Given the description of an element on the screen output the (x, y) to click on. 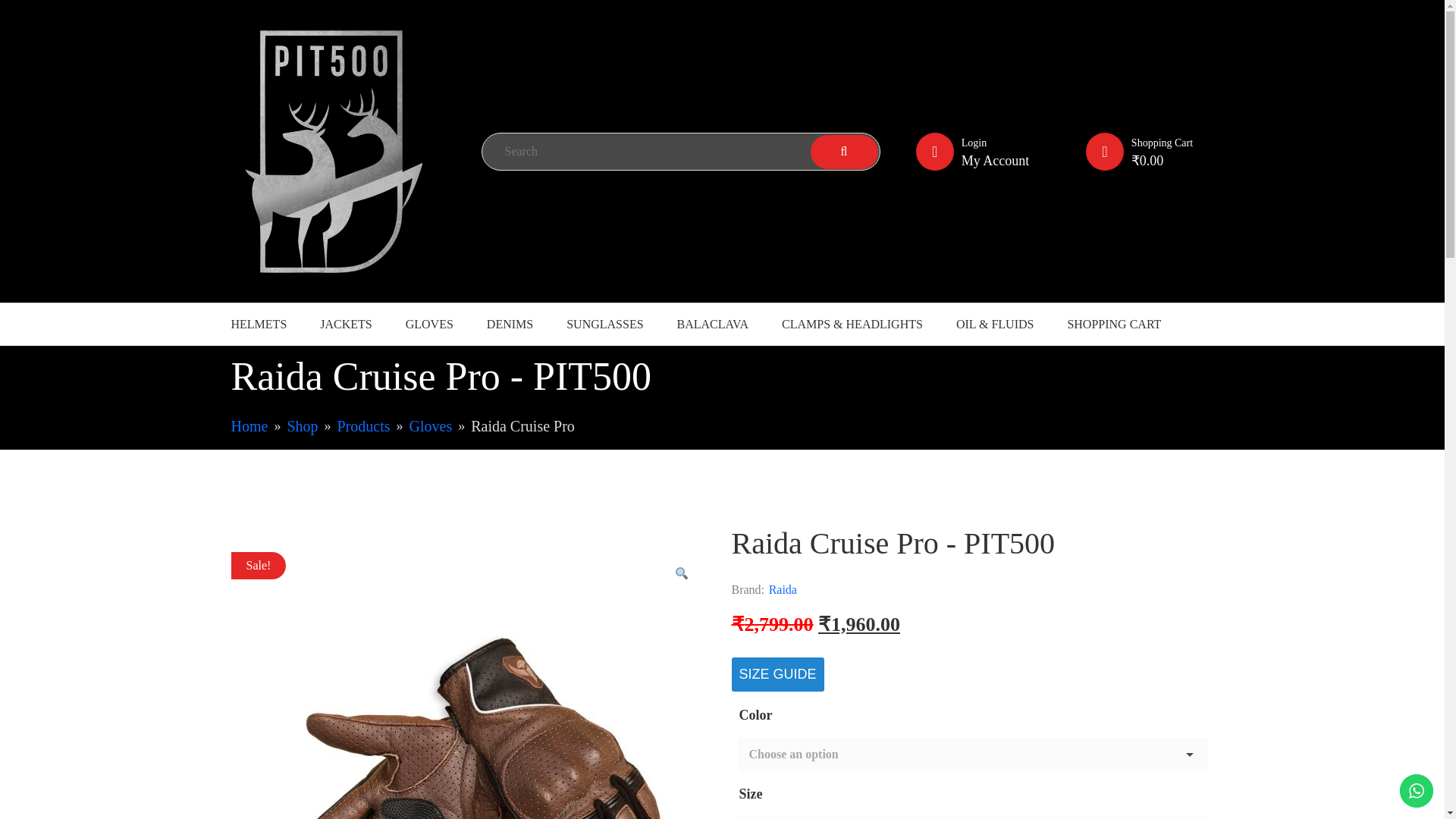
Raida Cruise Pro 2 (471, 685)
Shop (301, 425)
Products (363, 425)
GLOVES (429, 323)
Home (248, 425)
JACKETS (345, 323)
SUNGLASSES (604, 323)
Gloves (430, 425)
SHOPPING CART (1113, 323)
BALACLAVA (713, 323)
HELMETS (258, 323)
DENIMS (509, 323)
View brand (782, 589)
Log In (967, 415)
Raida (782, 589)
